Given the description of an element on the screen output the (x, y) to click on. 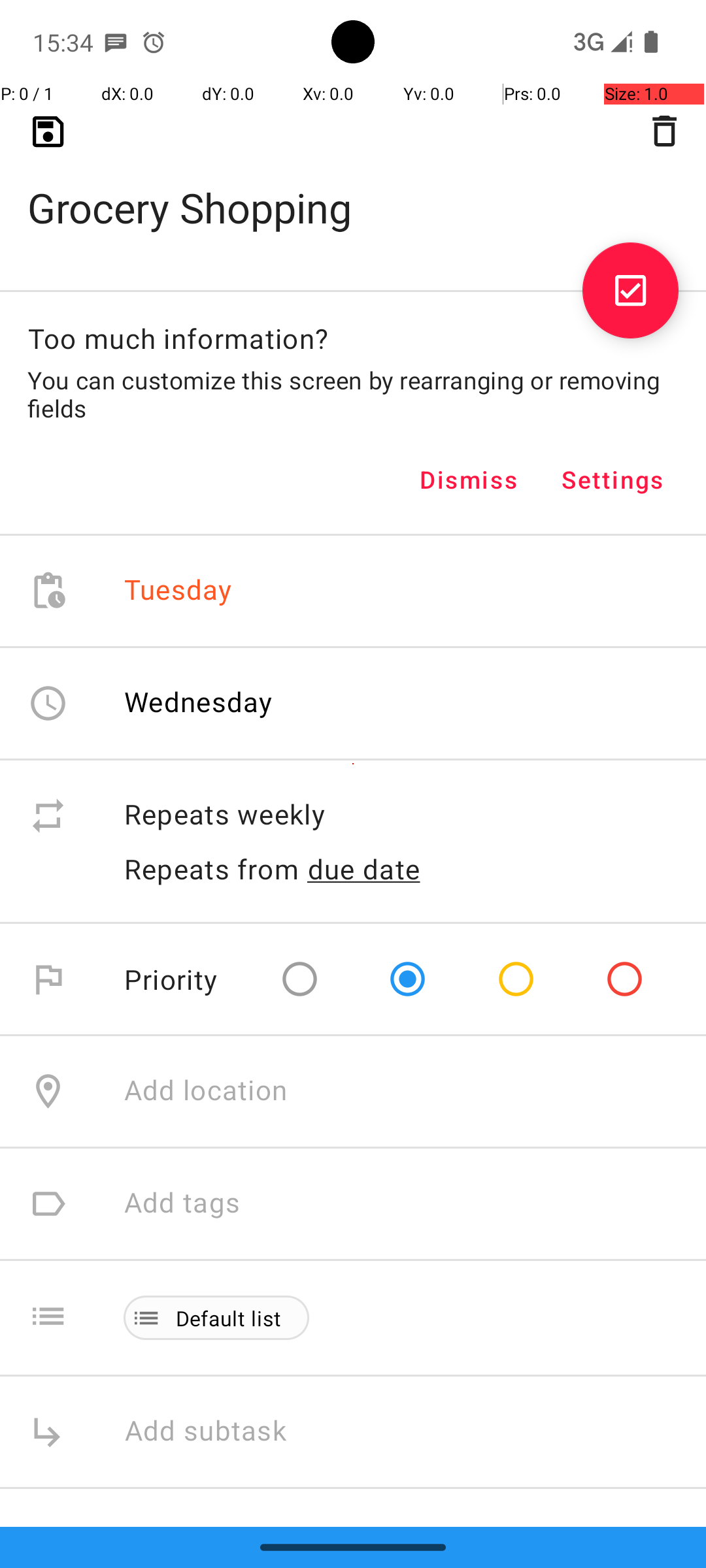
Repeats weekly Element type: android.widget.TextView (400, 815)
Repeats from Element type: android.widget.TextView (211, 868)
due date Element type: android.widget.TextView (363, 868)
